Given the description of an element on the screen output the (x, y) to click on. 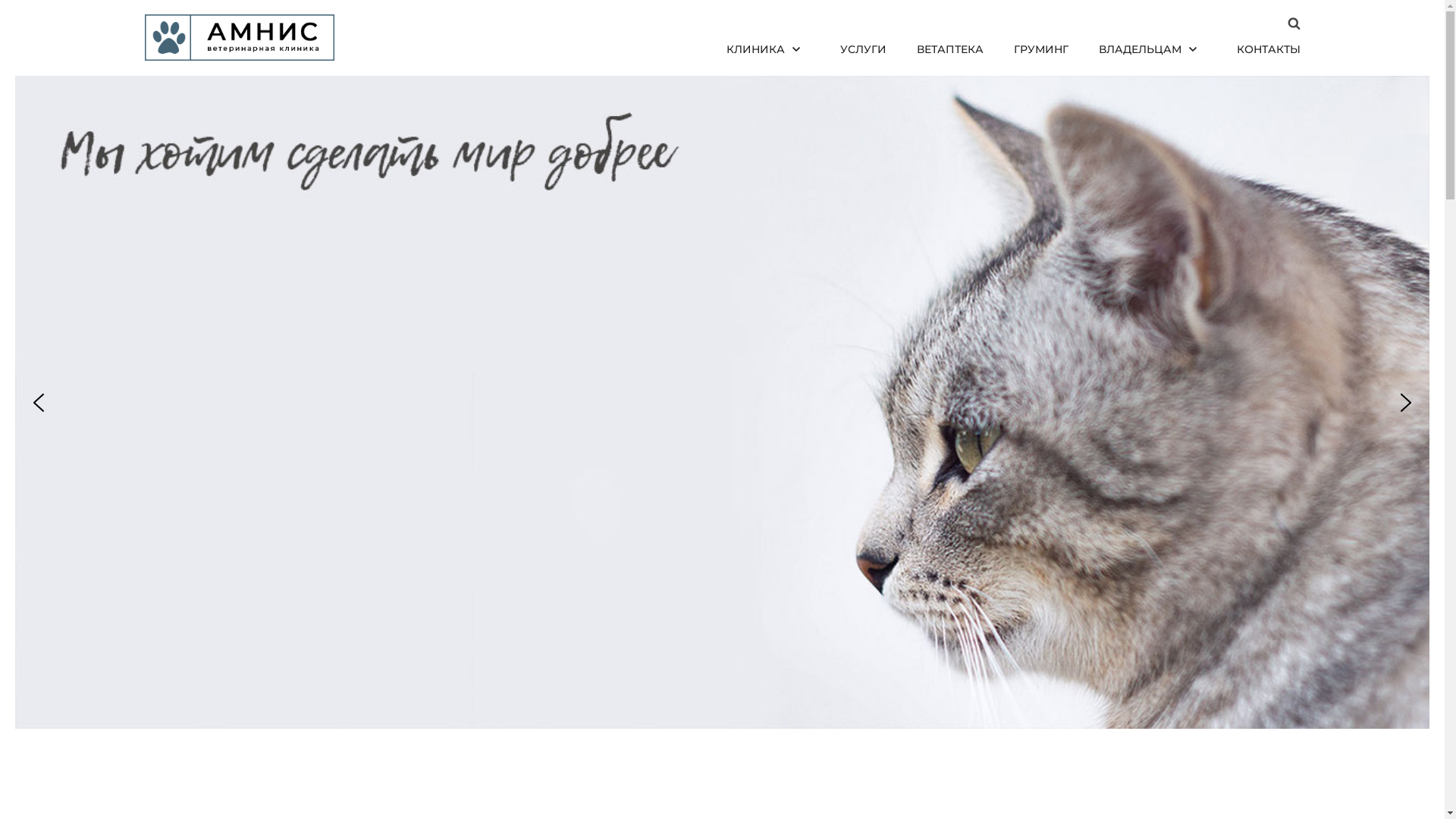
Search Element type: text (1283, 409)
